Given the description of an element on the screen output the (x, y) to click on. 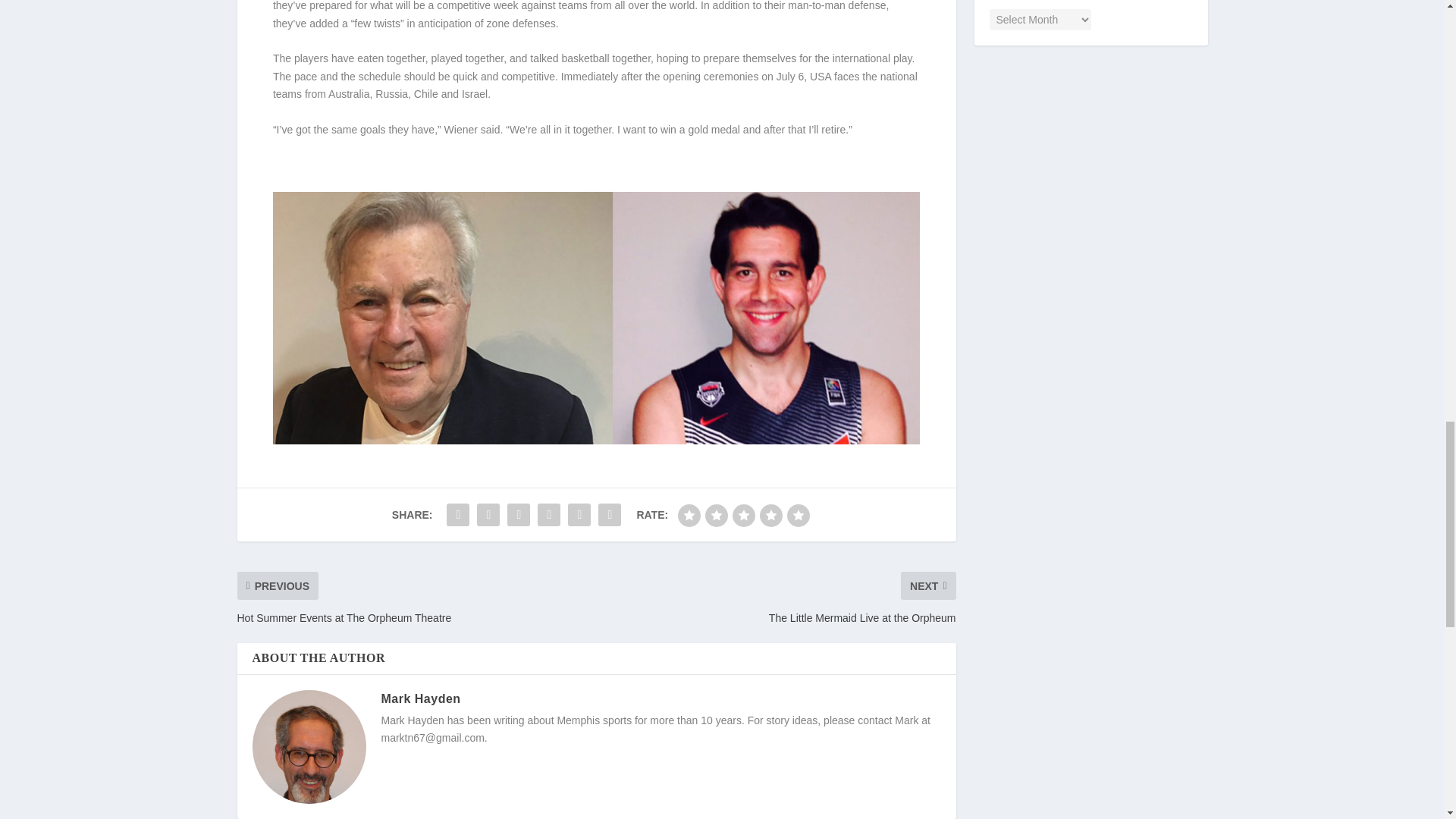
Share "Jewish Basketball Greats Head to Israel" via Twitter (488, 514)
Share "Jewish Basketball Greats Head to Israel" via Email (579, 514)
Share "Jewish Basketball Greats Head to Israel" via Facebook (457, 514)
bad (689, 515)
Share "Jewish Basketball Greats Head to Israel" via LinkedIn (549, 514)
regular (743, 515)
poor (716, 515)
Share "Jewish Basketball Greats Head to Israel" via Print (609, 514)
good (771, 515)
